Given the description of an element on the screen output the (x, y) to click on. 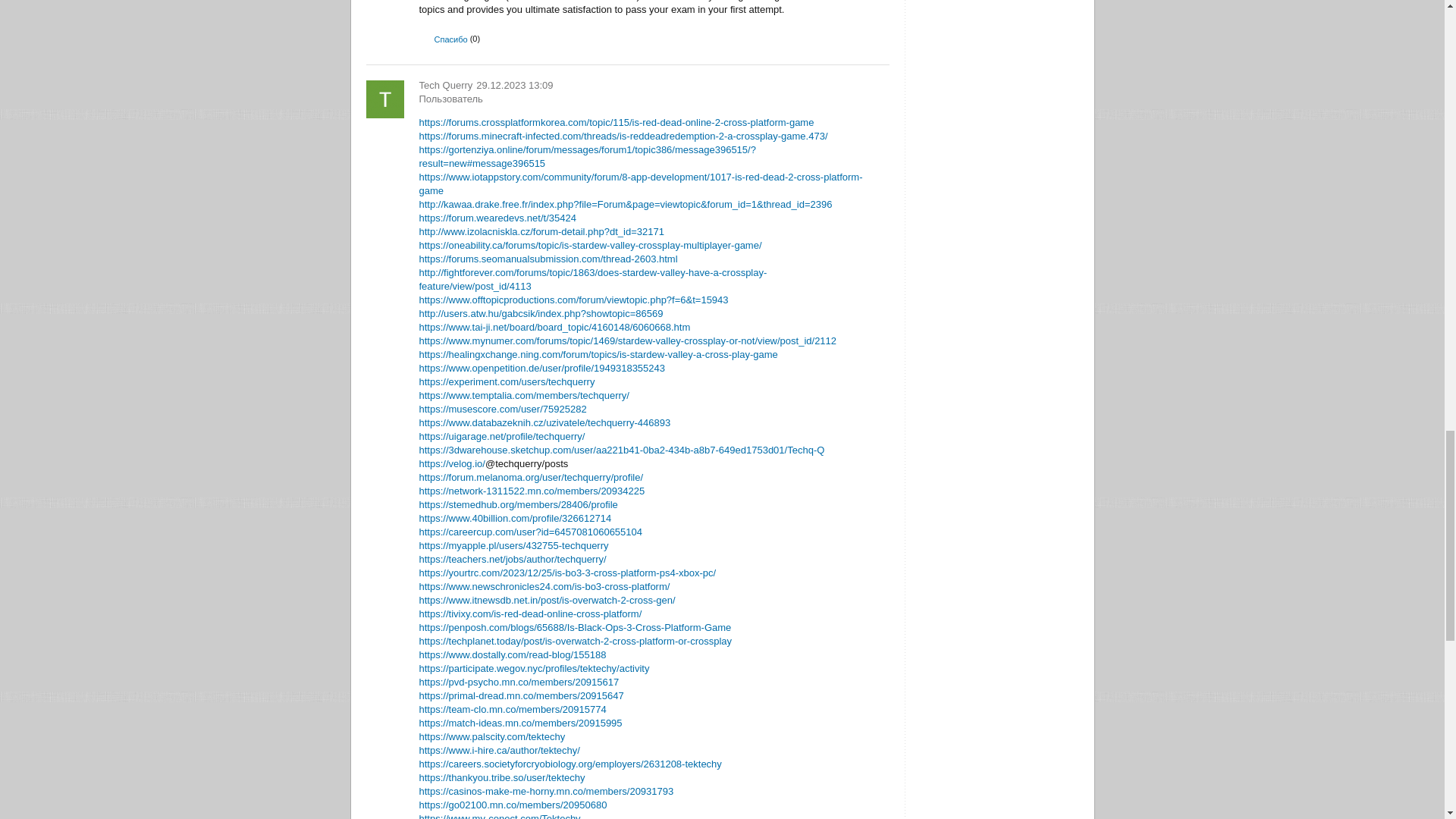
Tech Querry (445, 85)
29.12.2023 13:09 (514, 85)
